Given the description of an element on the screen output the (x, y) to click on. 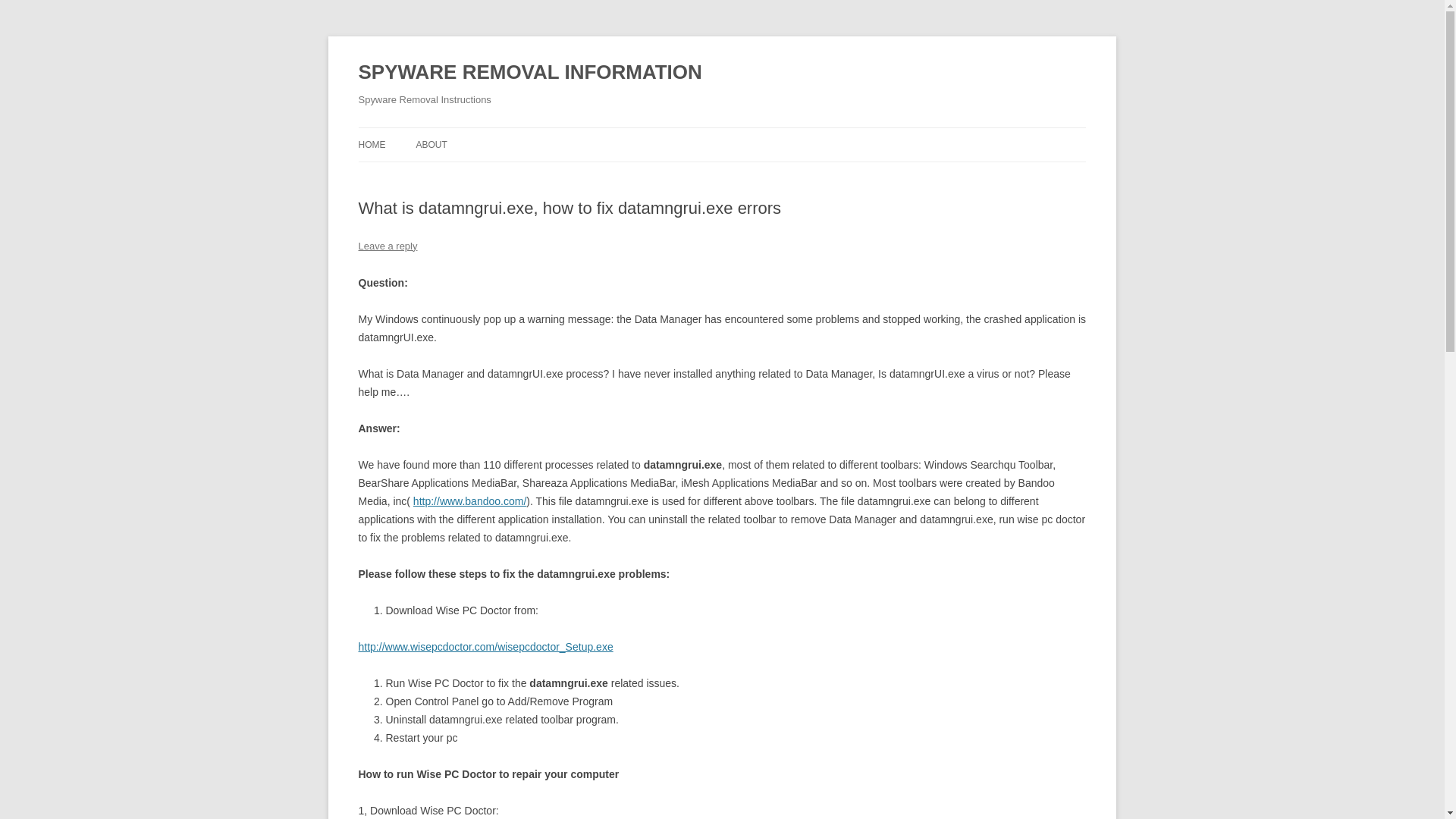
Leave a reply (387, 245)
ABOUT (430, 144)
SPYWARE REMOVAL INFORMATION (529, 72)
SPYWARE REMOVAL INFORMATION (529, 72)
